Given the description of an element on the screen output the (x, y) to click on. 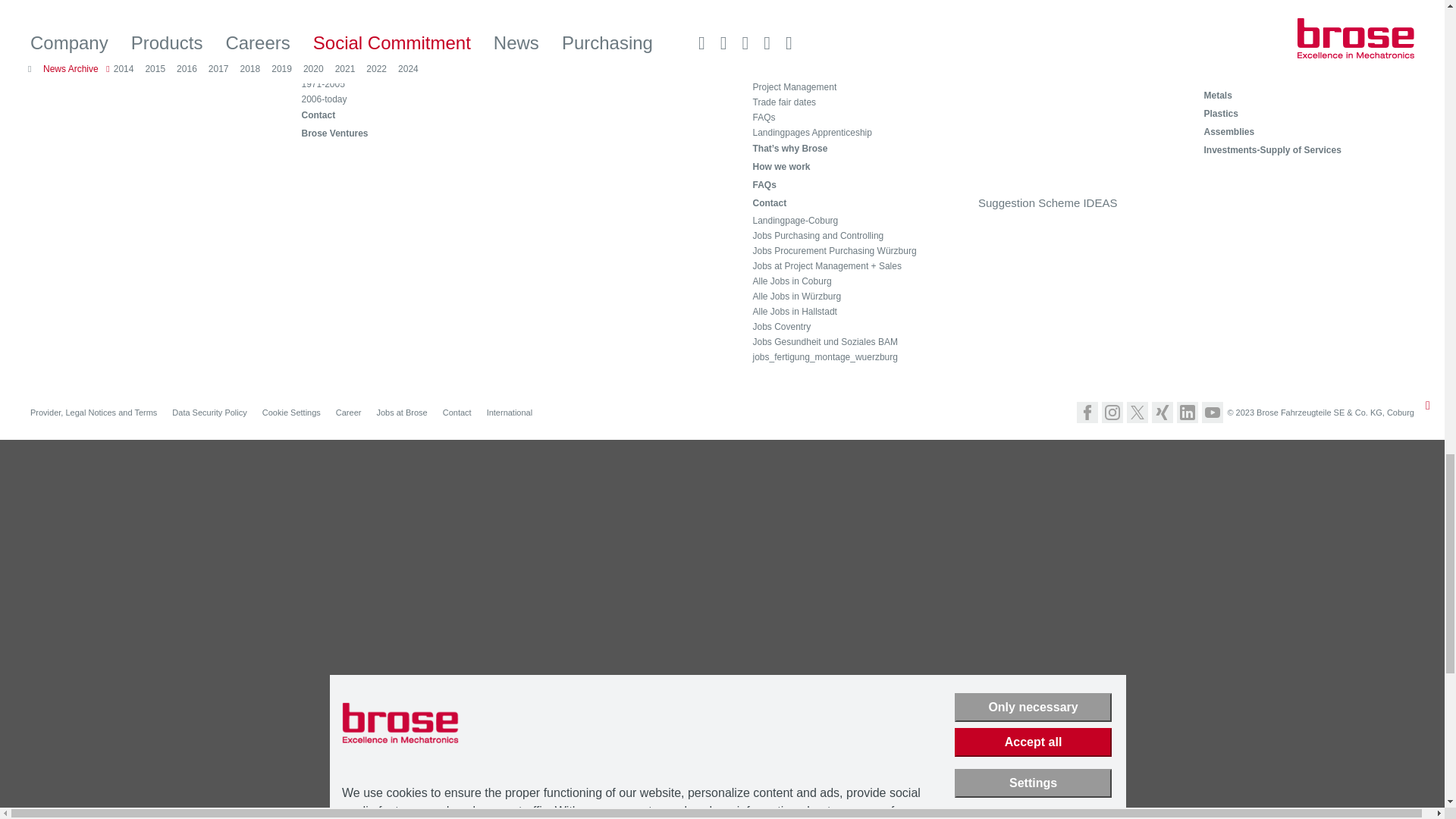
Facebook (1087, 412)
LinkedIn (1187, 412)
Instagram (1112, 412)
Twitter (1137, 412)
YouTube (1212, 412)
Settings (1033, 783)
Xing (1162, 412)
Accept all (1033, 742)
Only necessary (1033, 706)
